Given the description of an element on the screen output the (x, y) to click on. 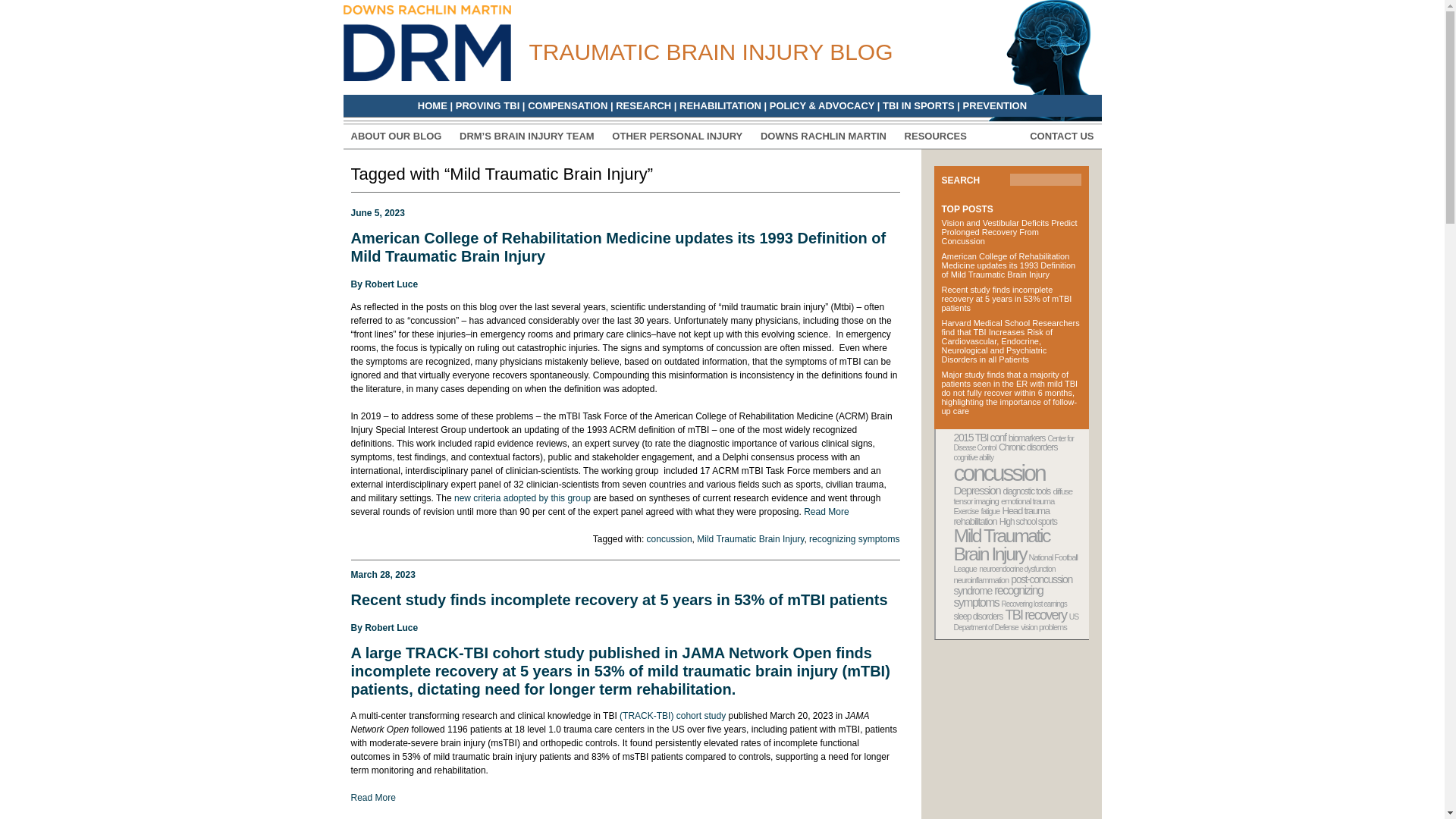
Posts by Robert Luce (391, 627)
new criteria adopted by this group (522, 498)
recognizing symptoms (854, 538)
10 topics (1027, 438)
58 topics (999, 472)
15 topics (979, 437)
Robert Luce (391, 627)
ABOUT OUR BLOG (395, 135)
4 topics (1013, 443)
5 topics (973, 457)
